Given the description of an element on the screen output the (x, y) to click on. 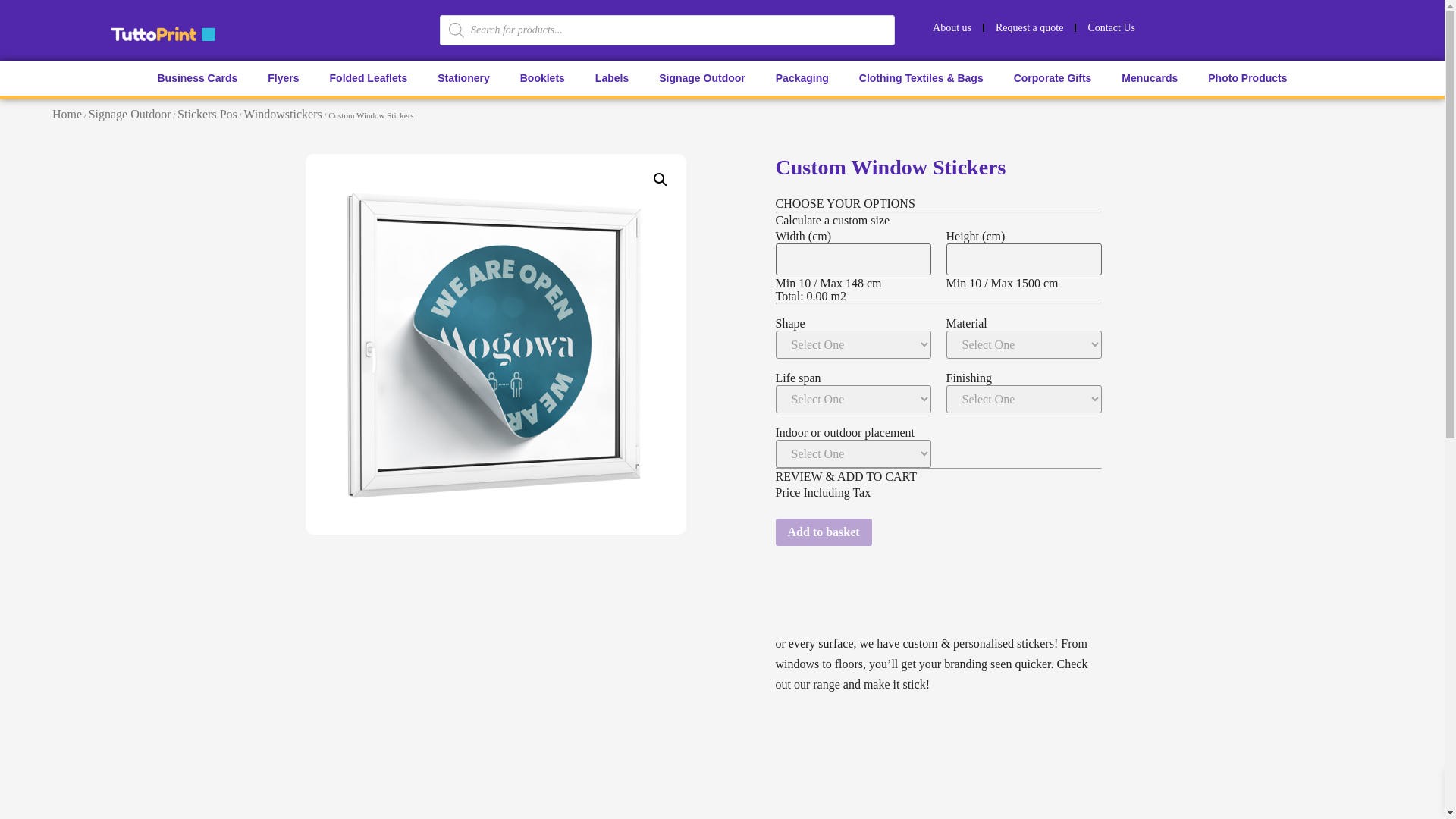
Stationery (462, 77)
Folded Leaflets (368, 77)
Request a quote (1029, 27)
Flyers (282, 77)
Signage Outdoor (701, 77)
Booklets (542, 77)
Packaging (802, 77)
Business Cards (196, 77)
Labels (611, 77)
About us (951, 27)
Contact Us (1111, 27)
